Given the description of an element on the screen output the (x, y) to click on. 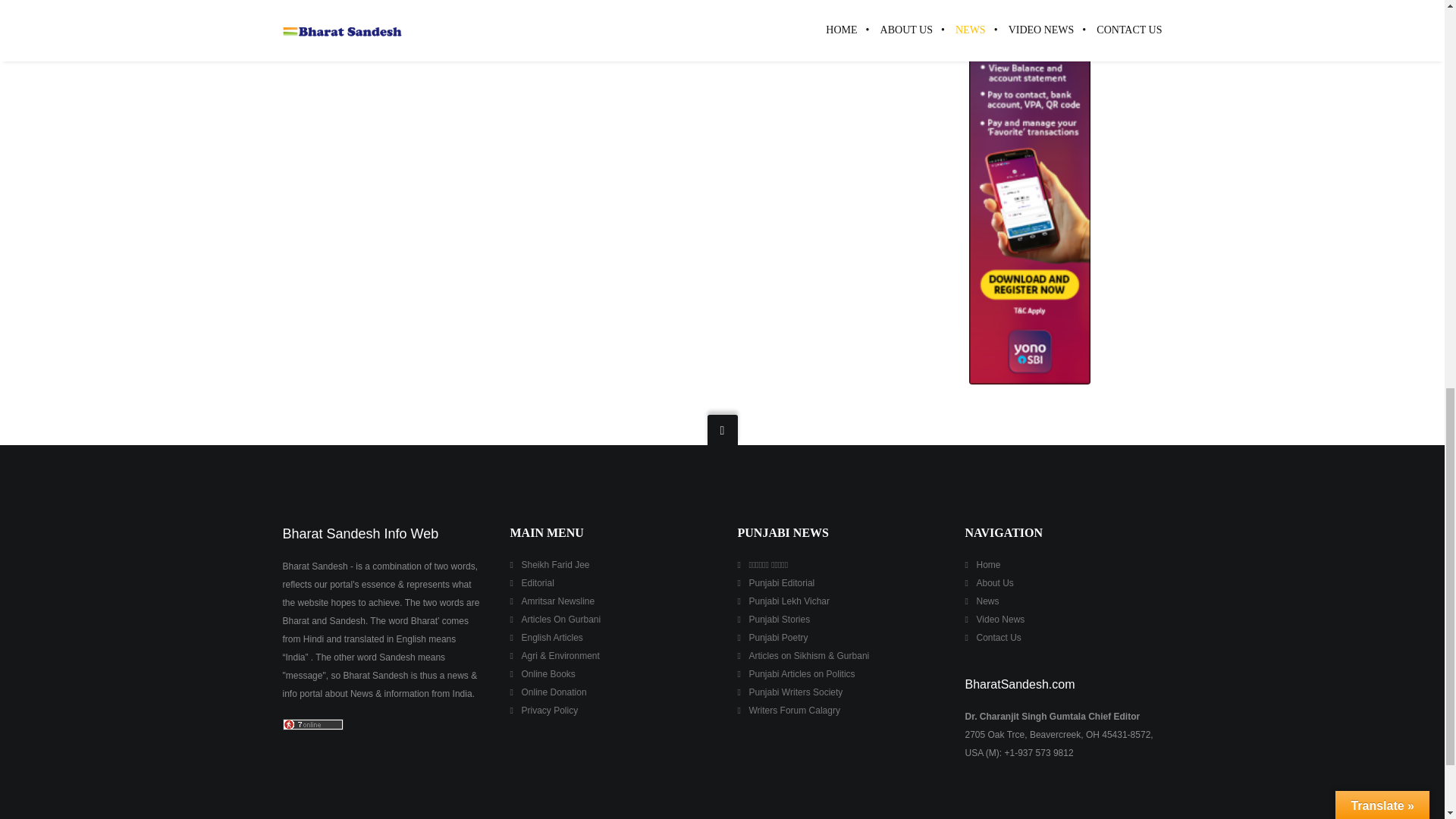
Click to see what's popular on this site! (312, 724)
